Given the description of an element on the screen output the (x, y) to click on. 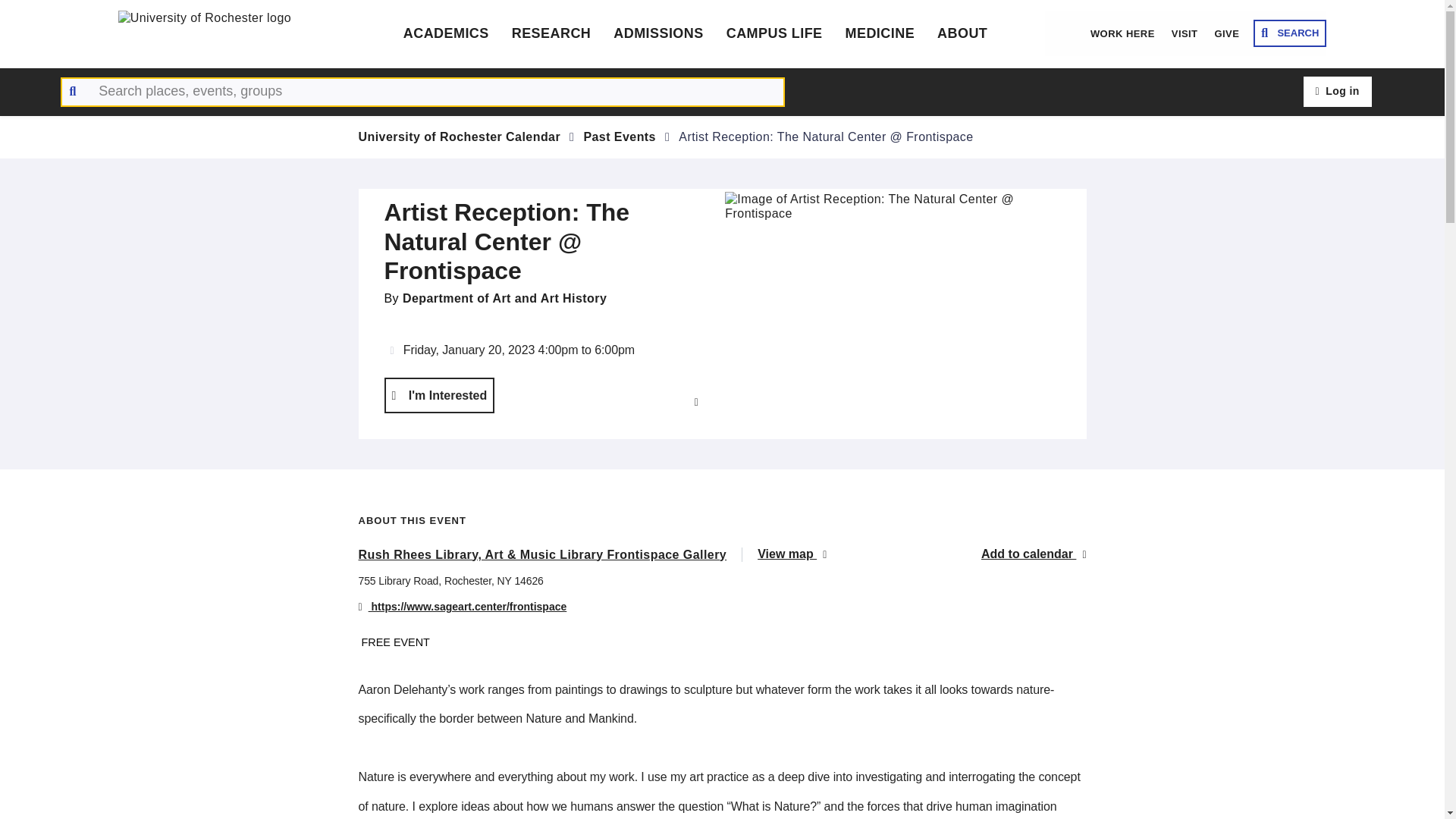
SEARCH (1289, 32)
Open Search (1289, 32)
University of Rochester Homepage (231, 33)
WORK HERE (1122, 33)
VISIT (1185, 33)
ADMISSIONS (657, 33)
Past Events (619, 136)
RESEARCH (551, 33)
CAMPUS LIFE (774, 33)
ABOUT (962, 33)
